Given the description of an element on the screen output the (x, y) to click on. 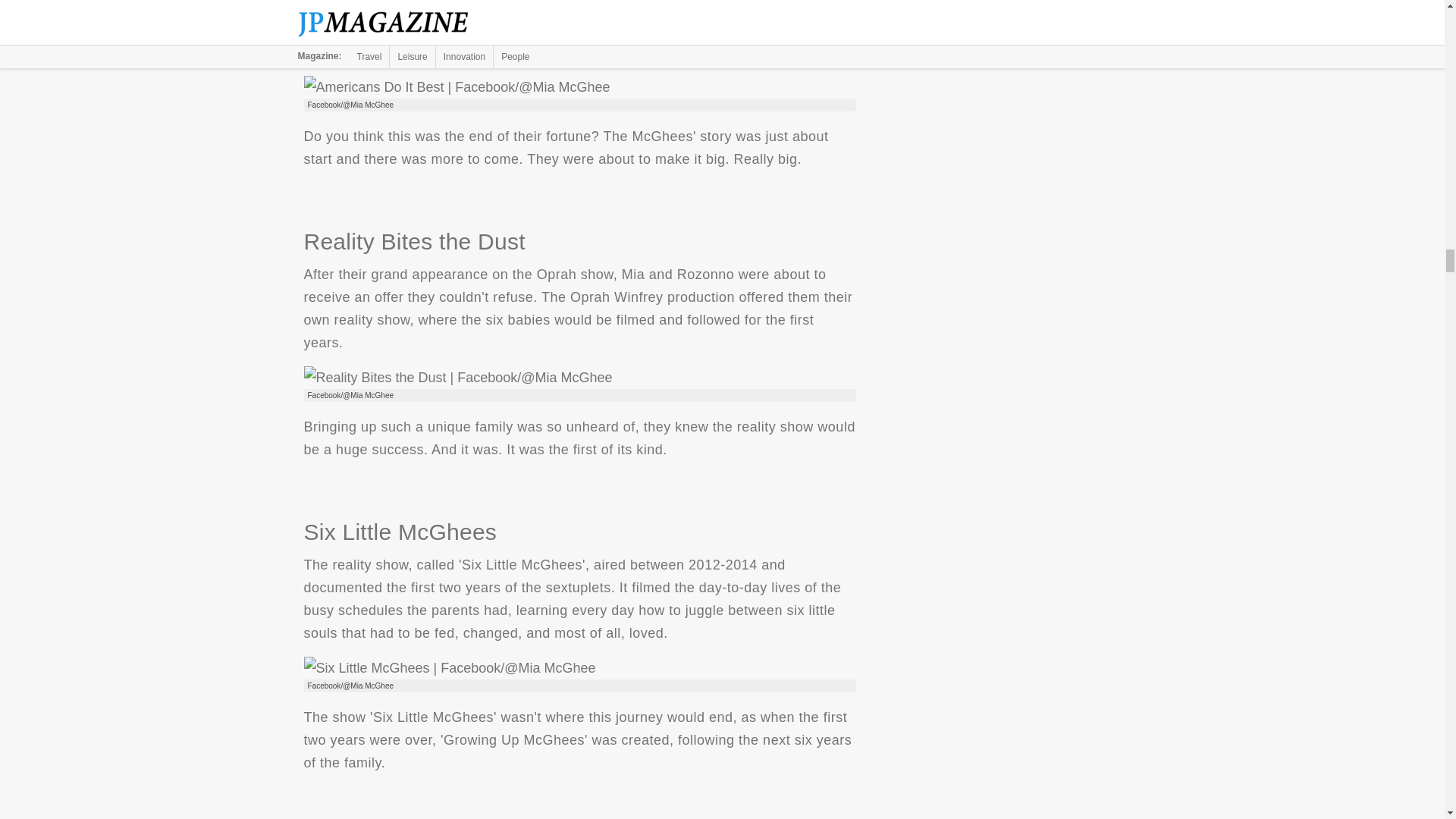
Americans Do It Best (456, 87)
Reality Bites the Dust (456, 377)
